Given the description of an element on the screen output the (x, y) to click on. 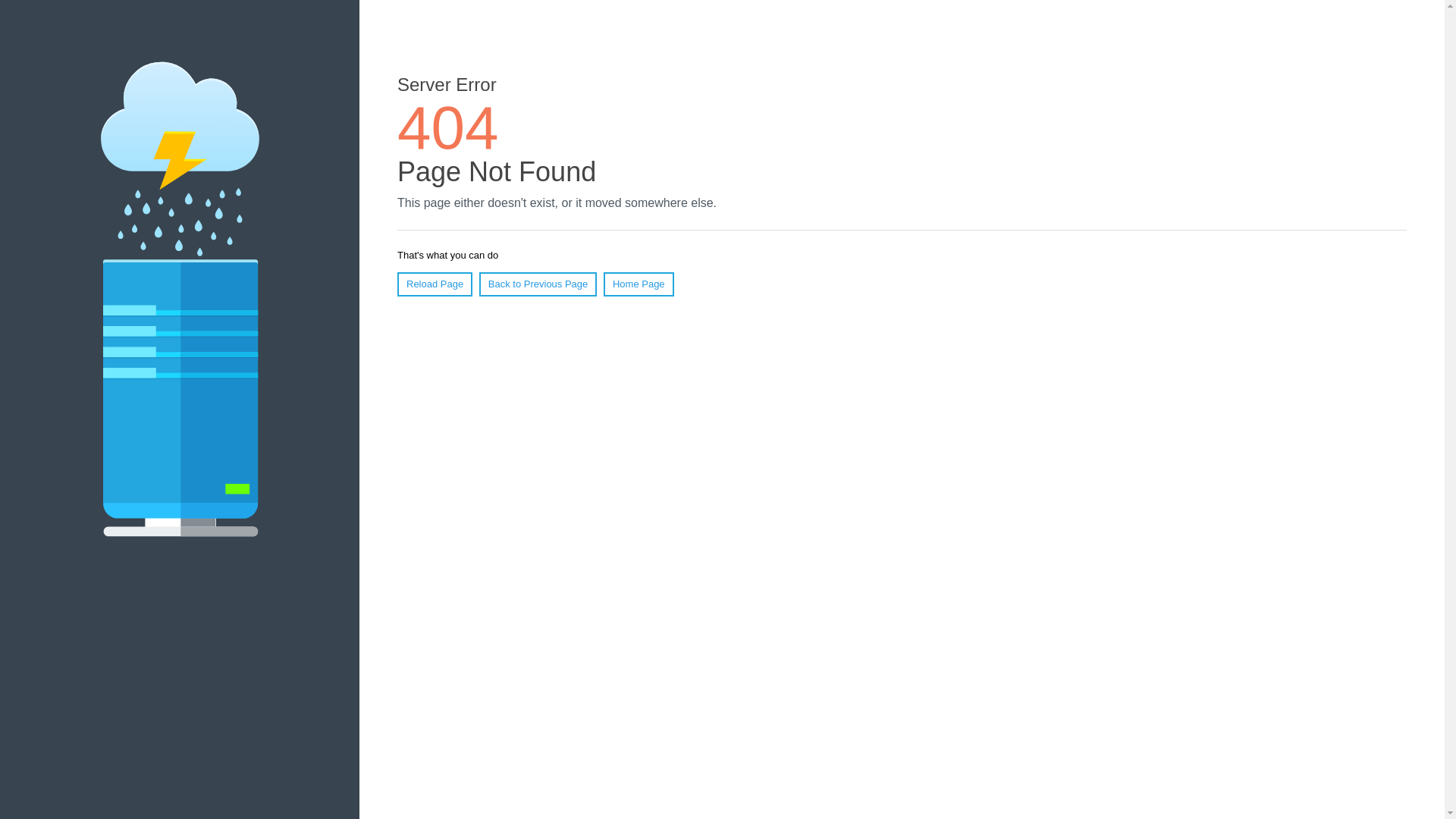
Back to Previous Page Element type: text (538, 284)
Home Page Element type: text (638, 284)
Reload Page Element type: text (434, 284)
